Given the description of an element on the screen output the (x, y) to click on. 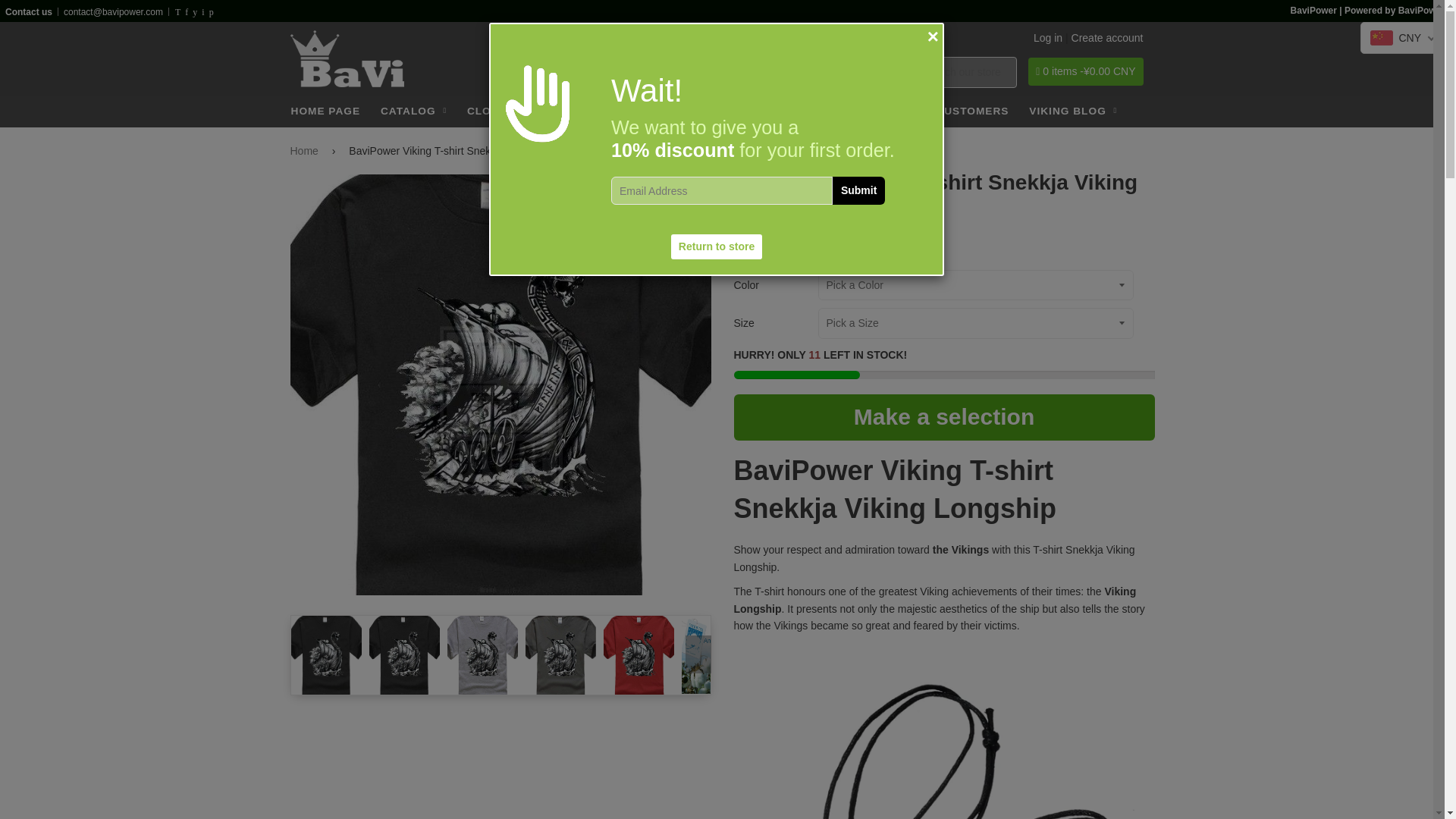
Facebook (186, 11)
Instagram (202, 11)
Contact us (29, 11)
BaviPower on Instagram (202, 11)
BaviPower on Twitter (178, 11)
BaviPower on Youtube (194, 11)
Twitter (178, 11)
BaviPower on Pinterest (210, 11)
Back to the frontpage (306, 150)
Youtube (194, 11)
BaviPower on Facebook (186, 11)
Submit (858, 190)
